Given the description of an element on the screen output the (x, y) to click on. 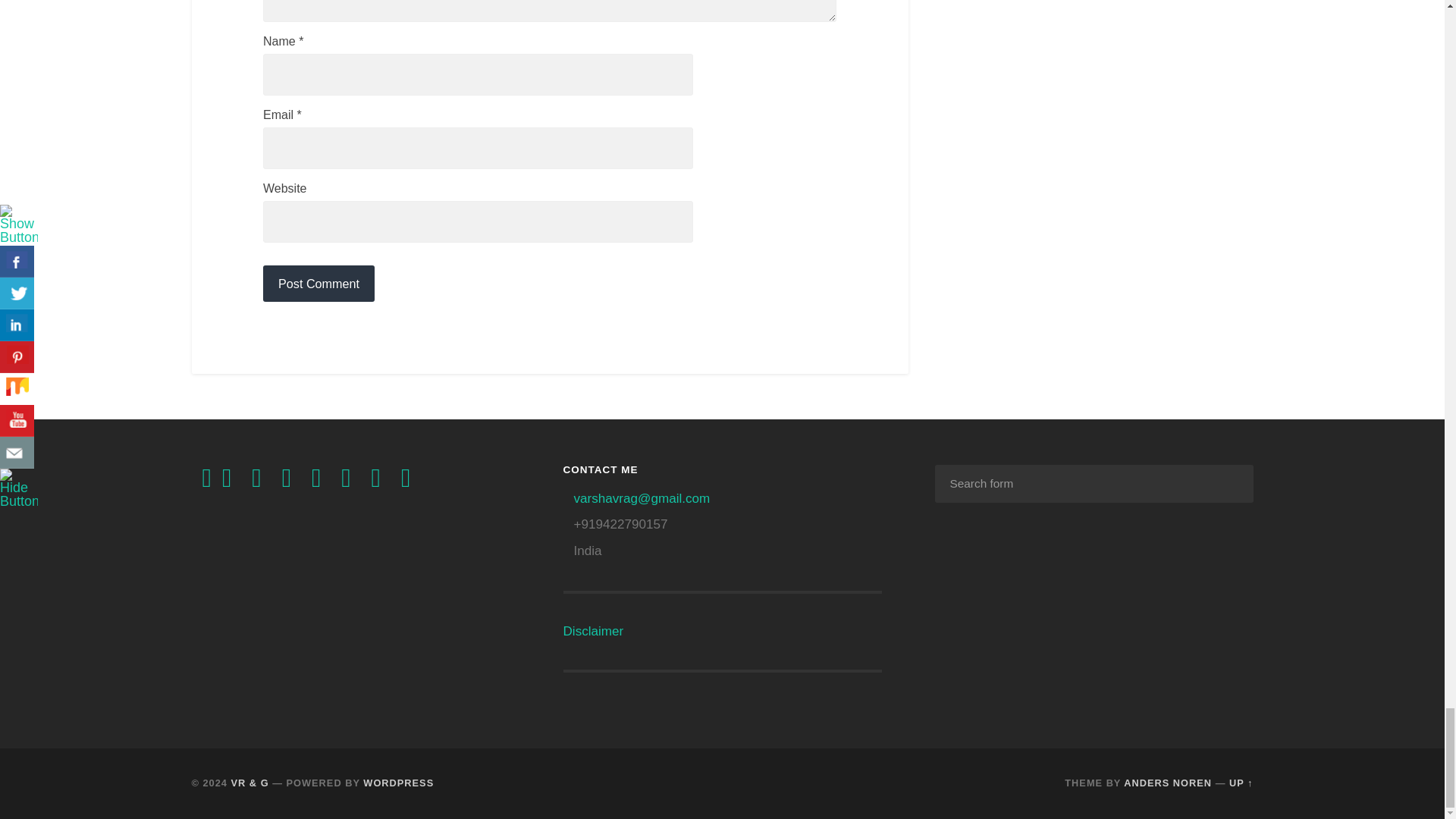
Post Comment (318, 283)
Search (1230, 483)
Search (1230, 483)
